Given the description of an element on the screen output the (x, y) to click on. 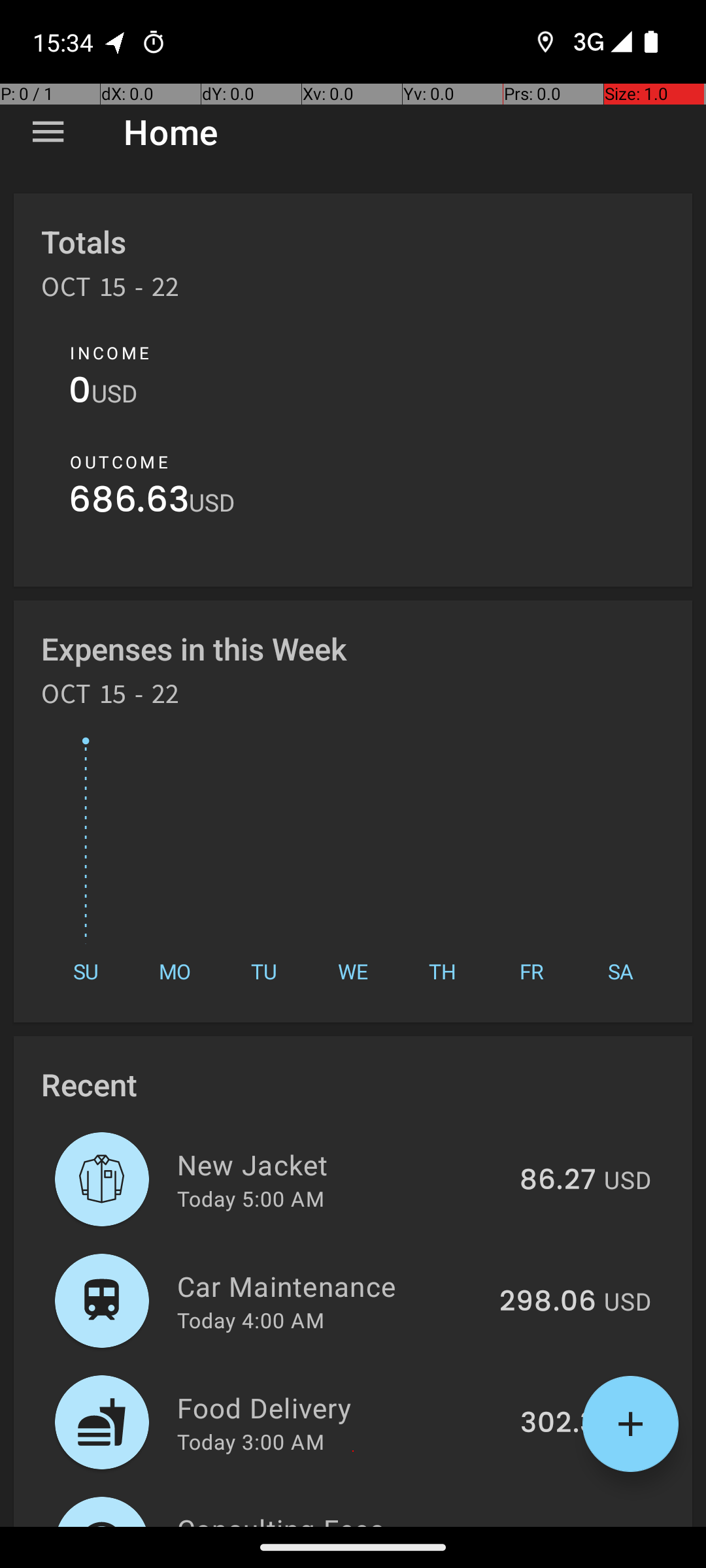
686.63 Element type: android.widget.TextView (128, 502)
New Jacket Element type: android.widget.TextView (340, 1164)
86.27 Element type: android.widget.TextView (557, 1180)
Car Maintenance Element type: android.widget.TextView (330, 1285)
298.06 Element type: android.widget.TextView (547, 1301)
Today 3:00 AM Element type: android.widget.TextView (250, 1441)
302.3 Element type: android.widget.TextView (557, 1423)
285.2 Element type: android.widget.TextView (557, 1524)
